Given the description of an element on the screen output the (x, y) to click on. 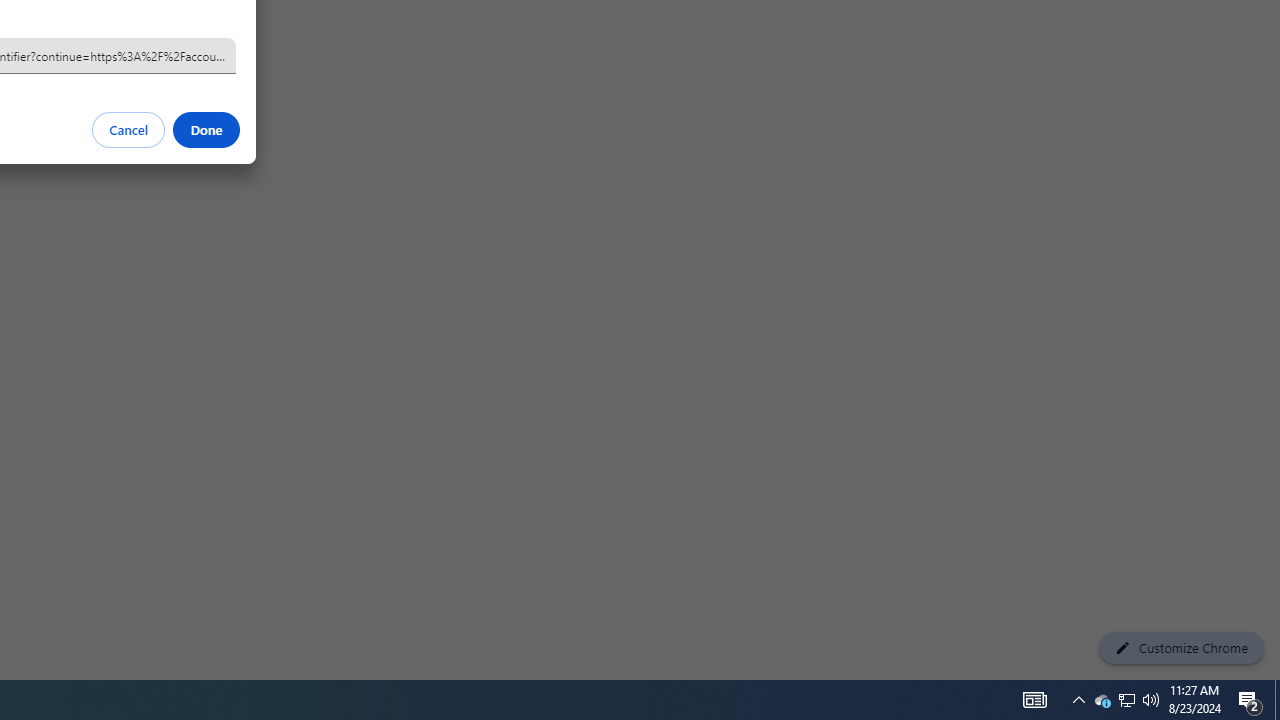
Done (206, 130)
Cancel (129, 130)
